Given the description of an element on the screen output the (x, y) to click on. 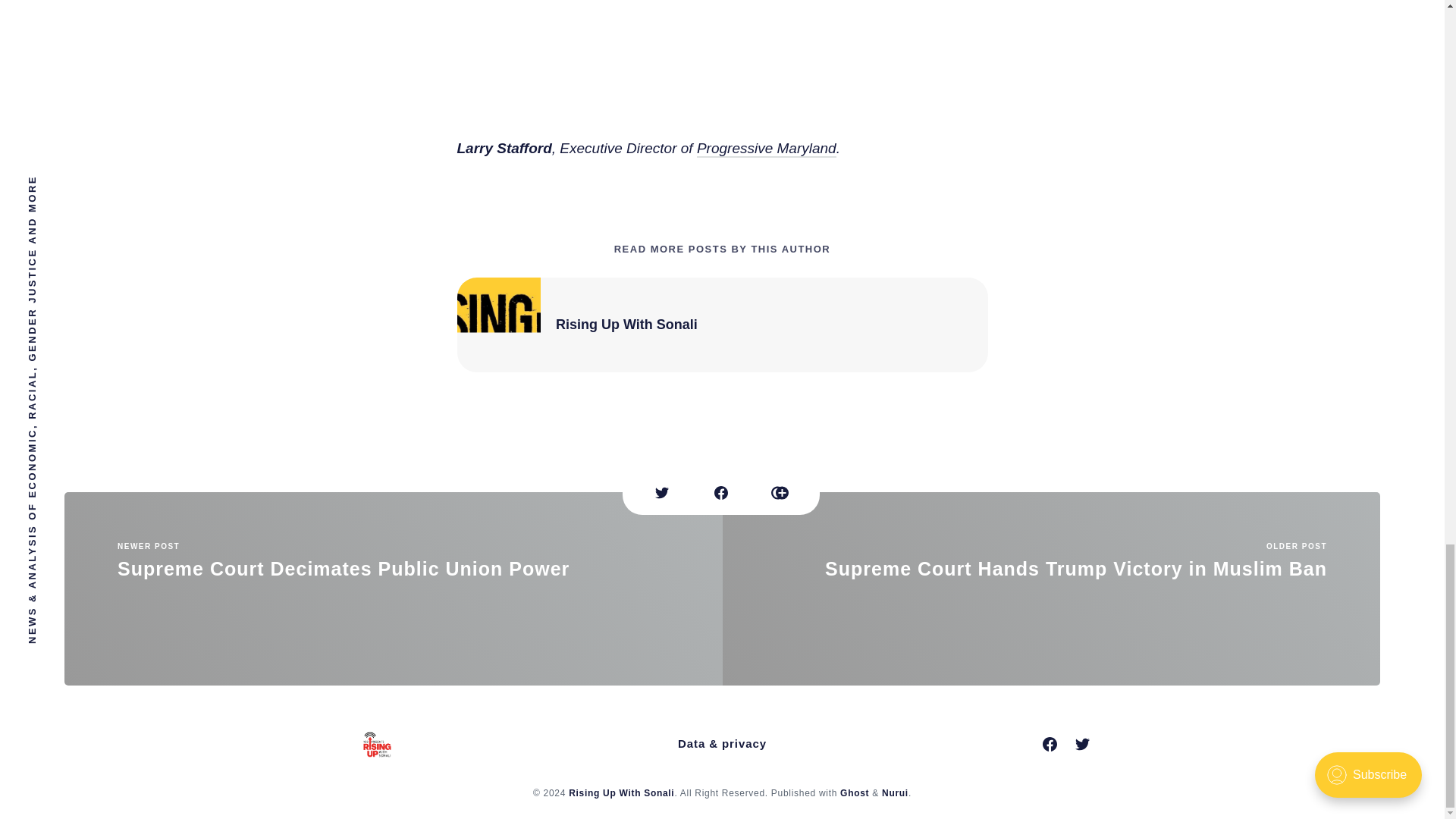
Rising Up With Sonali (621, 792)
Ghost (1051, 588)
Rising Up With Sonali (854, 792)
Progressive Maryland (625, 324)
Nurui (393, 588)
